Given the description of an element on the screen output the (x, y) to click on. 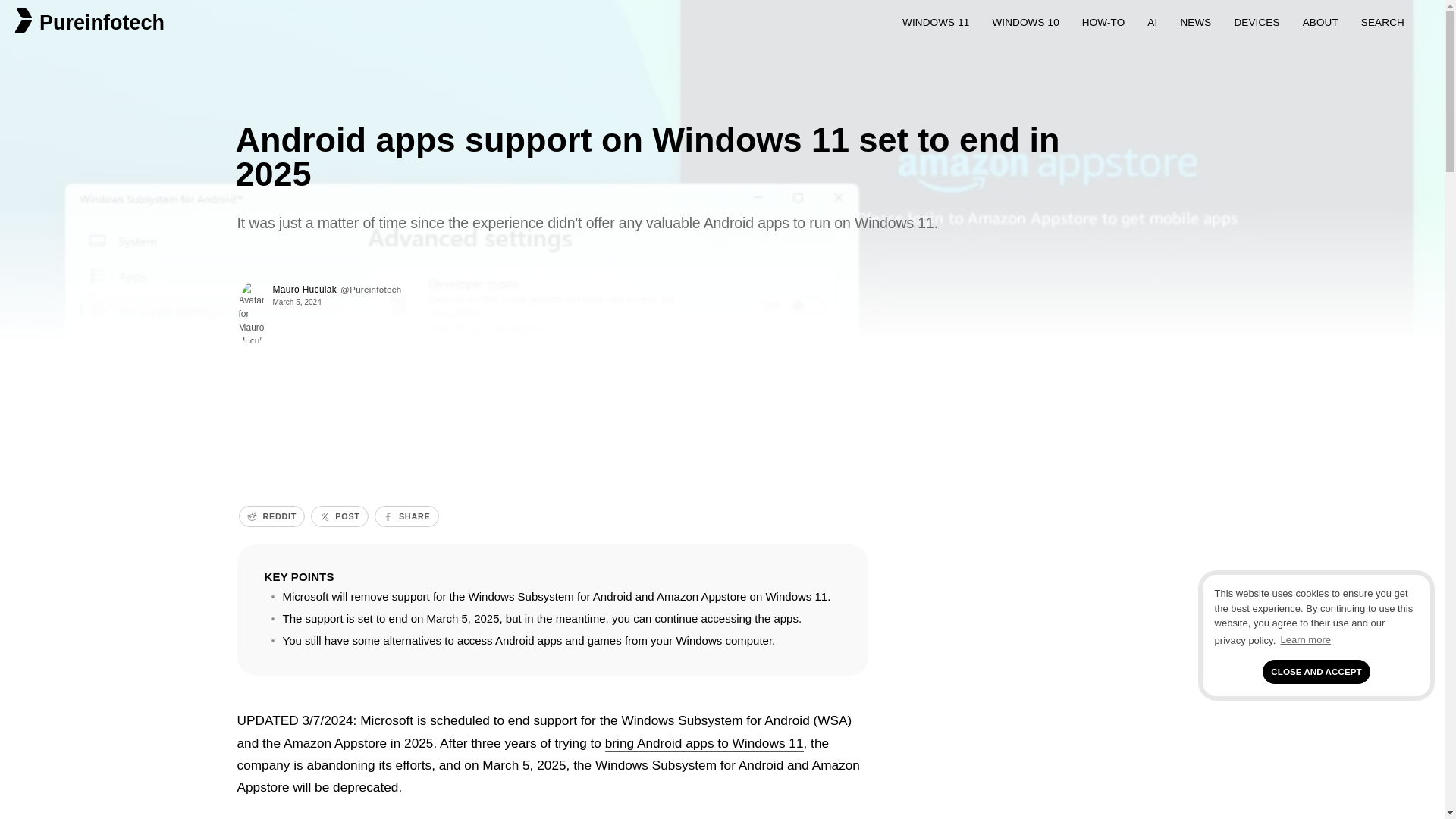
DEVICES (1256, 18)
WINDOWS 10 (1024, 18)
Mauro Huculak (305, 289)
ABOUT (1320, 18)
Share on Reddit (271, 516)
Learn more (1305, 640)
SEARCH (1383, 18)
Share on Facebook (406, 516)
3rd party ad content (612, 414)
bring Android apps to Windows 11 (704, 743)
REDDIT (271, 516)
SHARE (406, 516)
Posts by Mauro Huculak (305, 289)
Pureinfotech (99, 18)
HOW-TO (1103, 18)
